Given the description of an element on the screen output the (x, y) to click on. 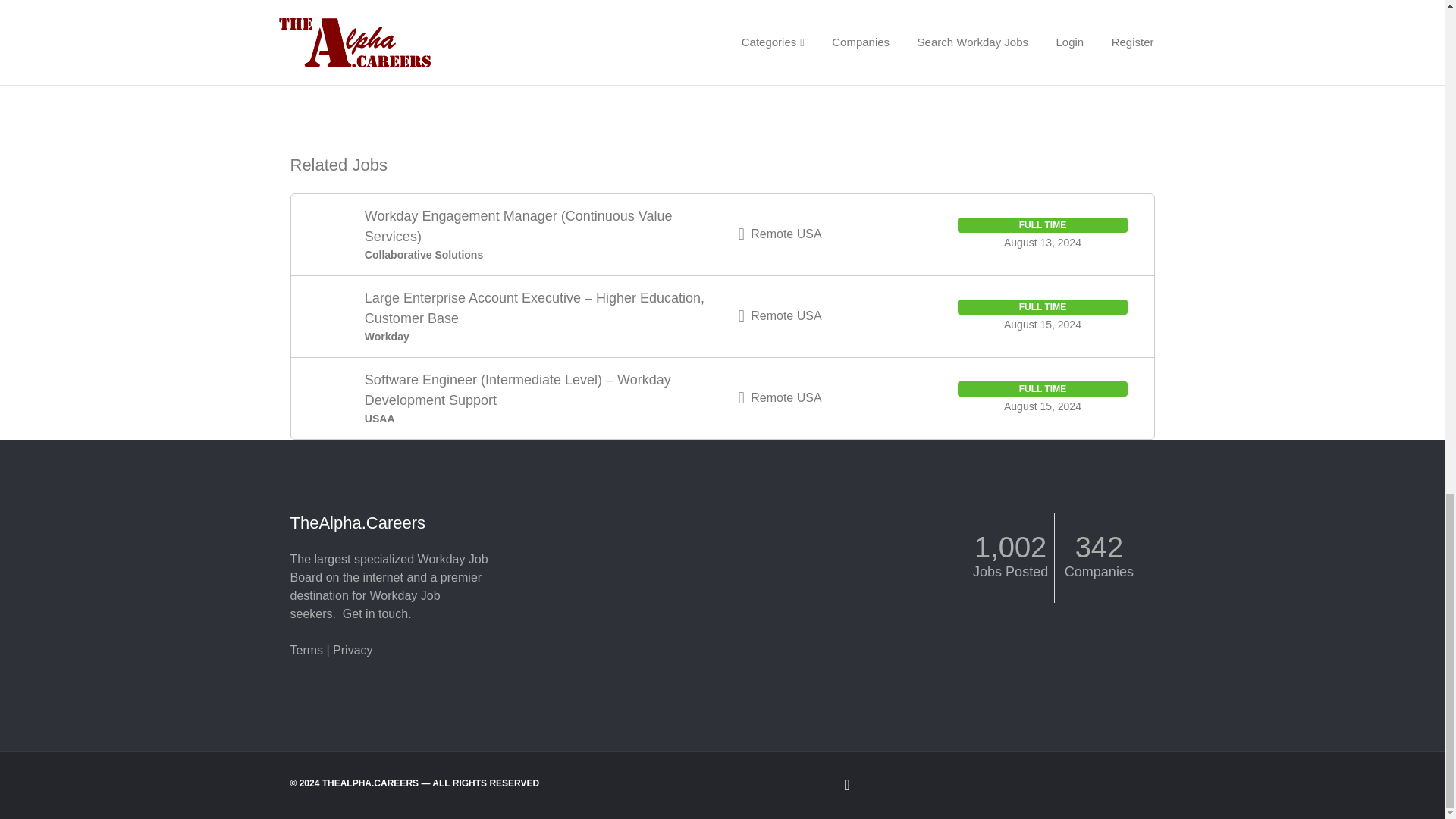
Privacy (352, 649)
Back to Top (721, 784)
Terms (306, 649)
Get in touch. (377, 613)
